Given the description of an element on the screen output the (x, y) to click on. 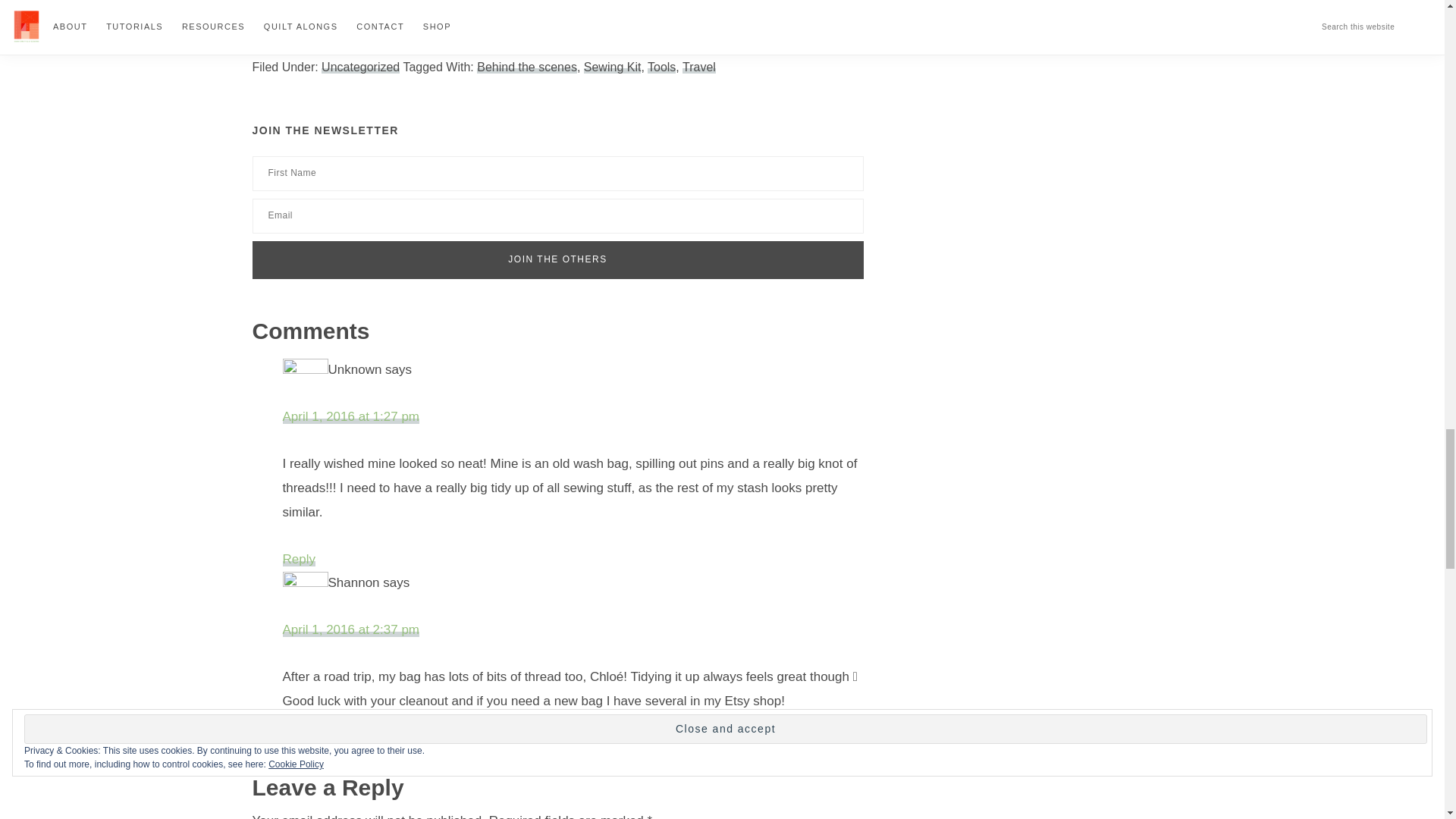
Join the Others (557, 259)
Tools (661, 66)
Reply (298, 748)
Behind the scenes (526, 66)
Sewing Kit (612, 66)
Uncategorized (359, 66)
Travel (699, 66)
April 1, 2016 at 2:37 pm (350, 629)
Join the Others (557, 259)
Reply (298, 559)
